Given the description of an element on the screen output the (x, y) to click on. 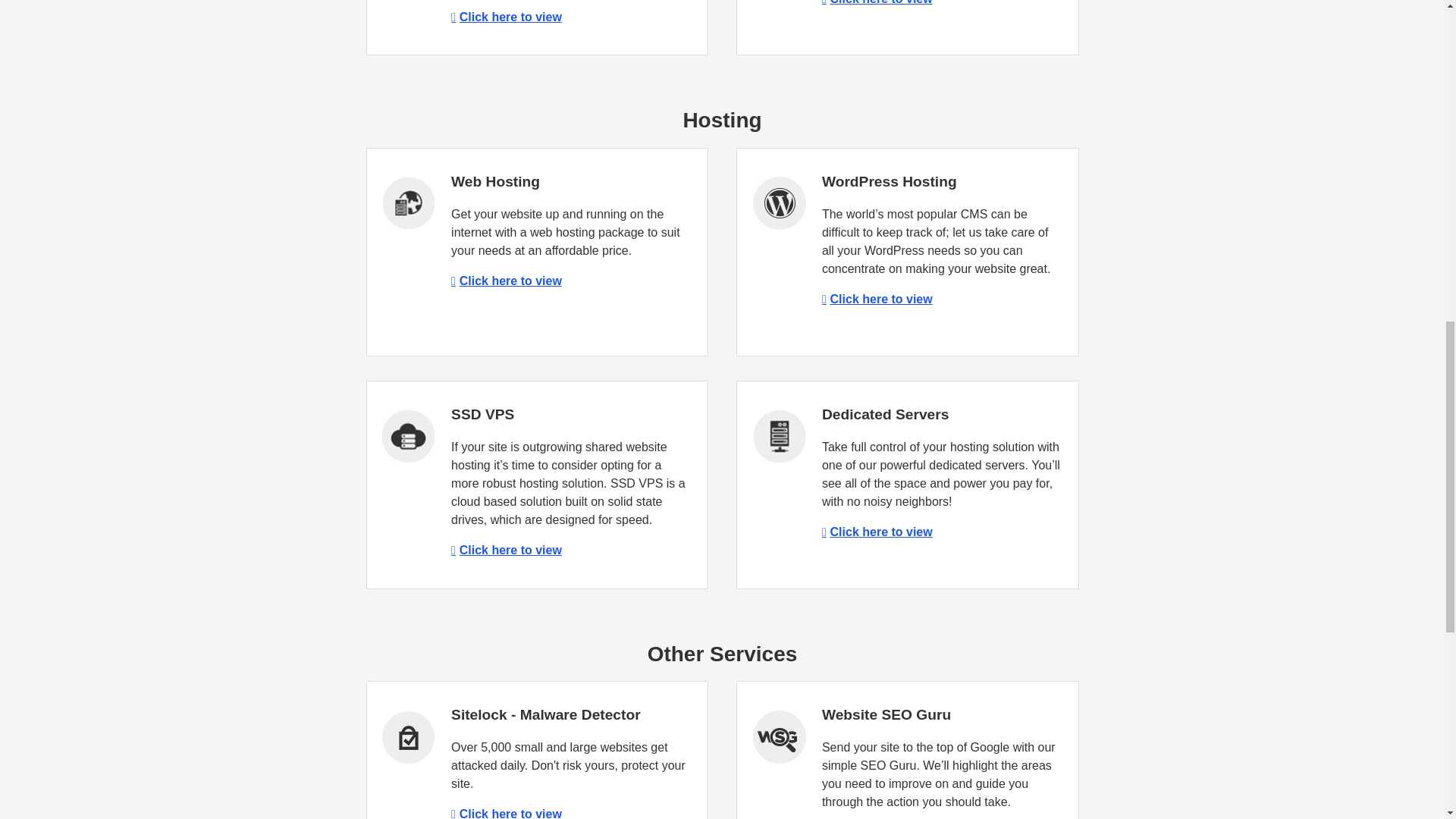
Click here to view (877, 298)
Click here to view (506, 549)
Click here to view (506, 16)
Click here to view (506, 813)
Click here to view (877, 531)
Click here to view (506, 280)
Click here to view (877, 2)
